Given the description of an element on the screen output the (x, y) to click on. 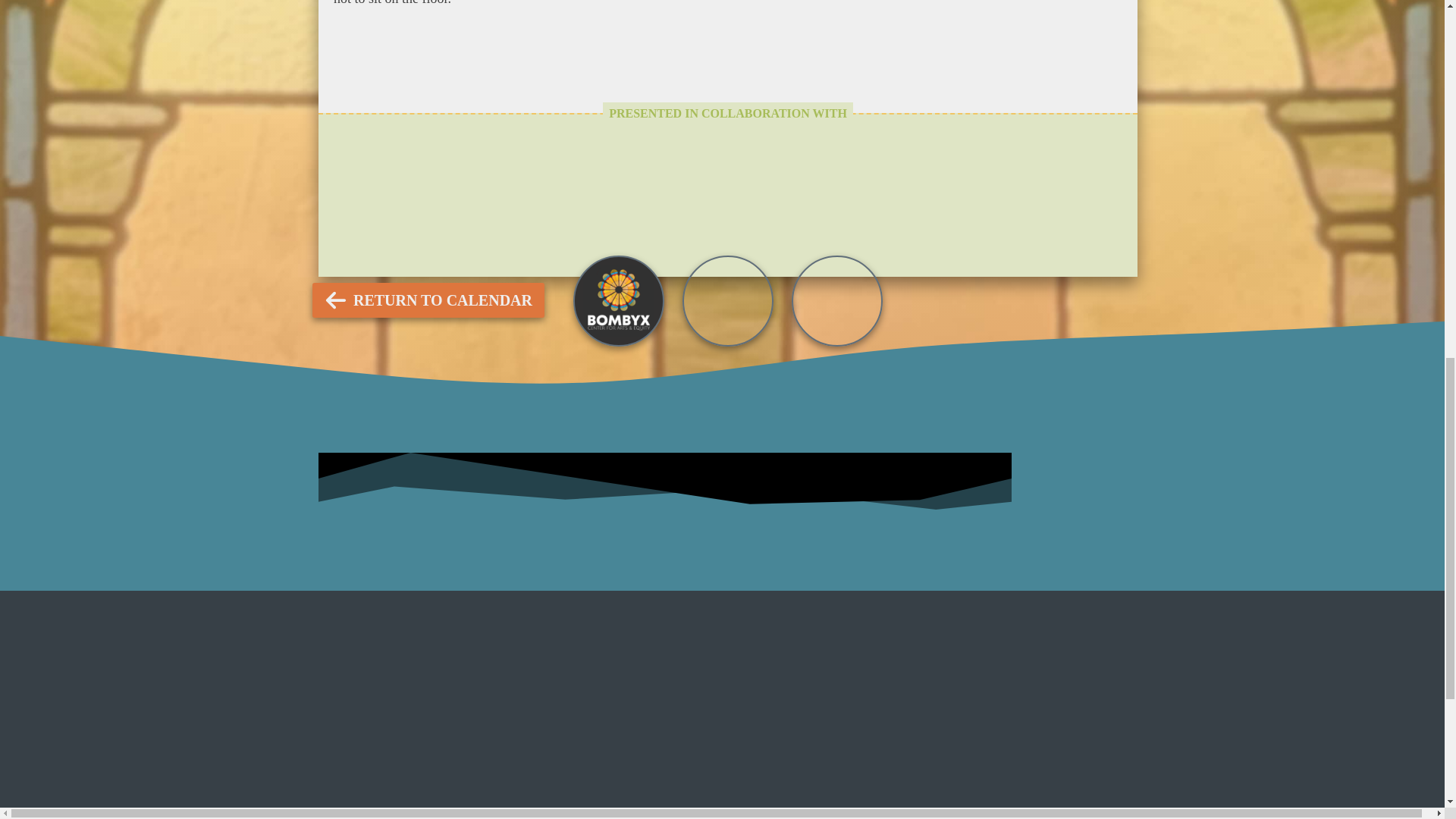
EVENTS (628, 242)
HOME (834, 242)
RETURN TO CALENDAR (428, 299)
ARTISTS (735, 242)
